Given the description of an element on the screen output the (x, y) to click on. 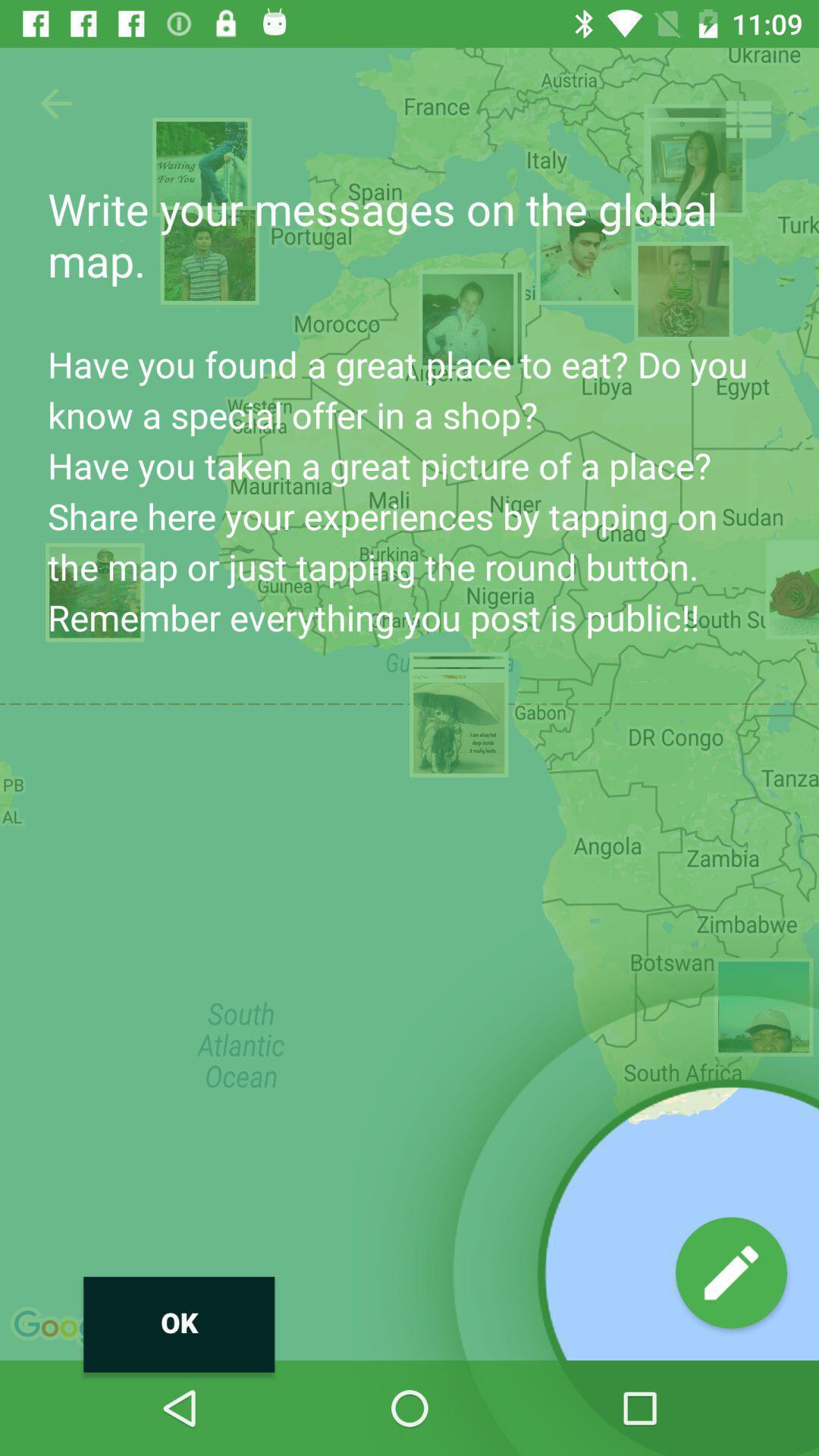
click icon to the right of the ok (731, 1272)
